Given the description of an element on the screen output the (x, y) to click on. 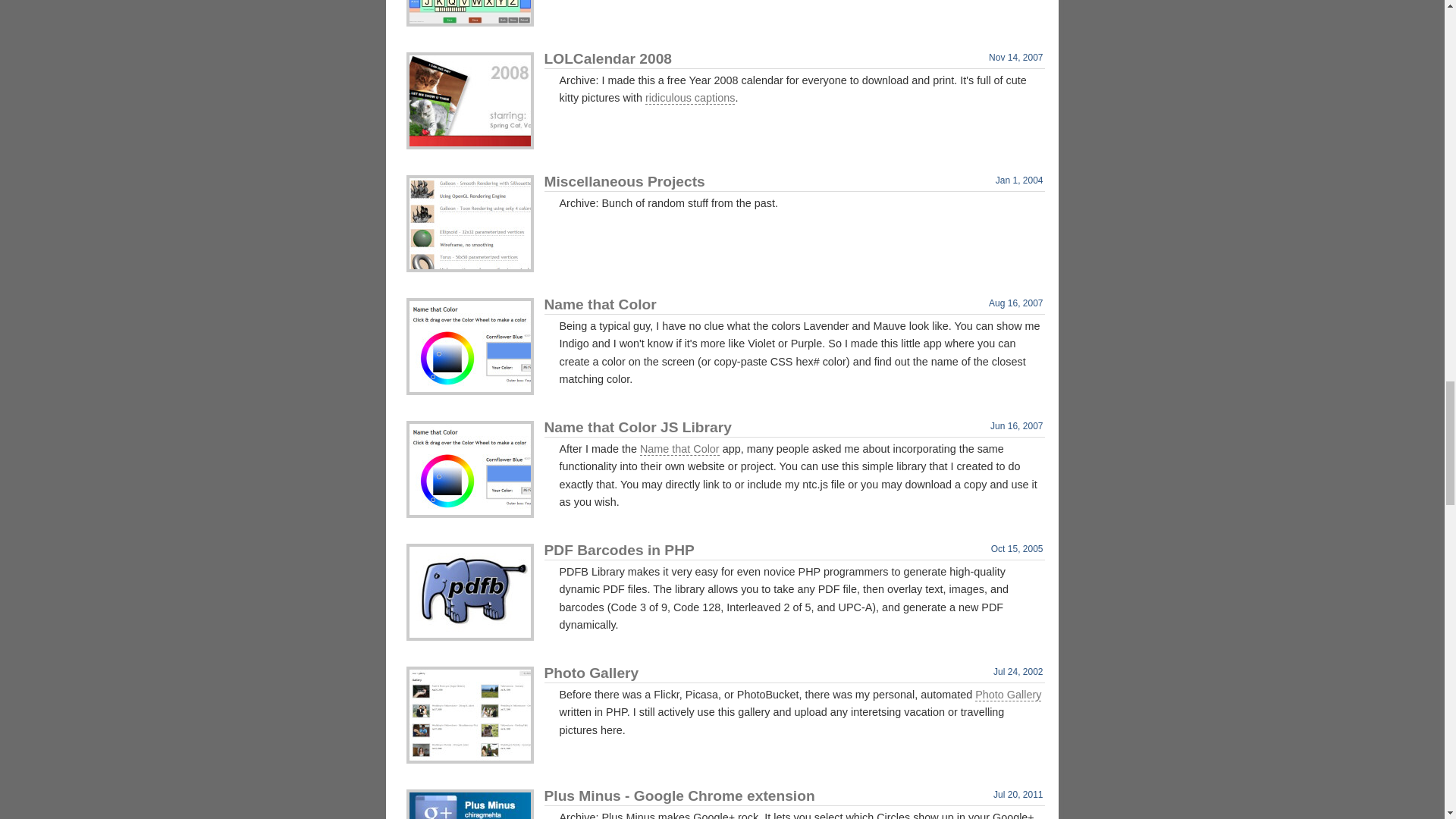
KType.net (470, 13)
